Given the description of an element on the screen output the (x, y) to click on. 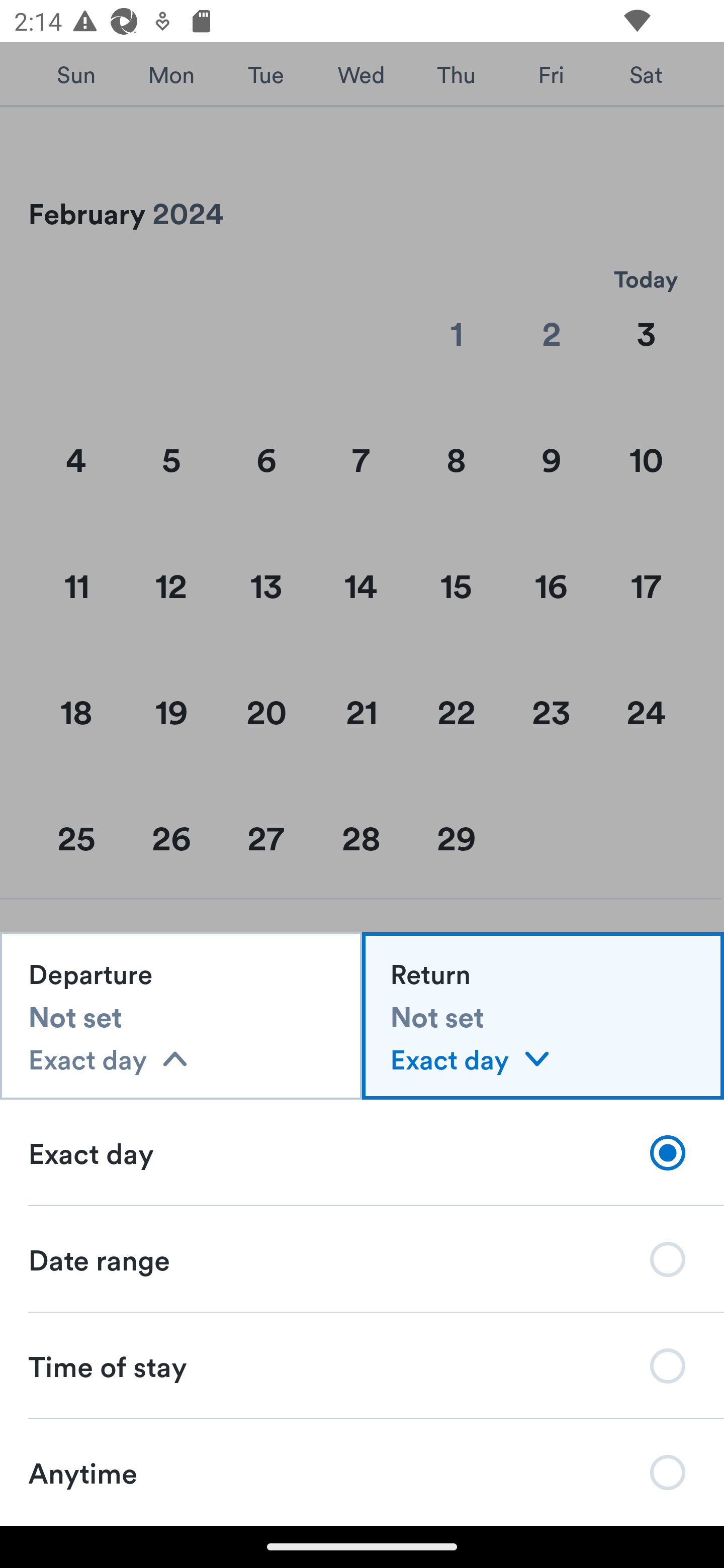
Exact day (362, 1152)
Date range (362, 1258)
Time of stay (362, 1365)
Anytime (362, 1472)
